Given the description of an element on the screen output the (x, y) to click on. 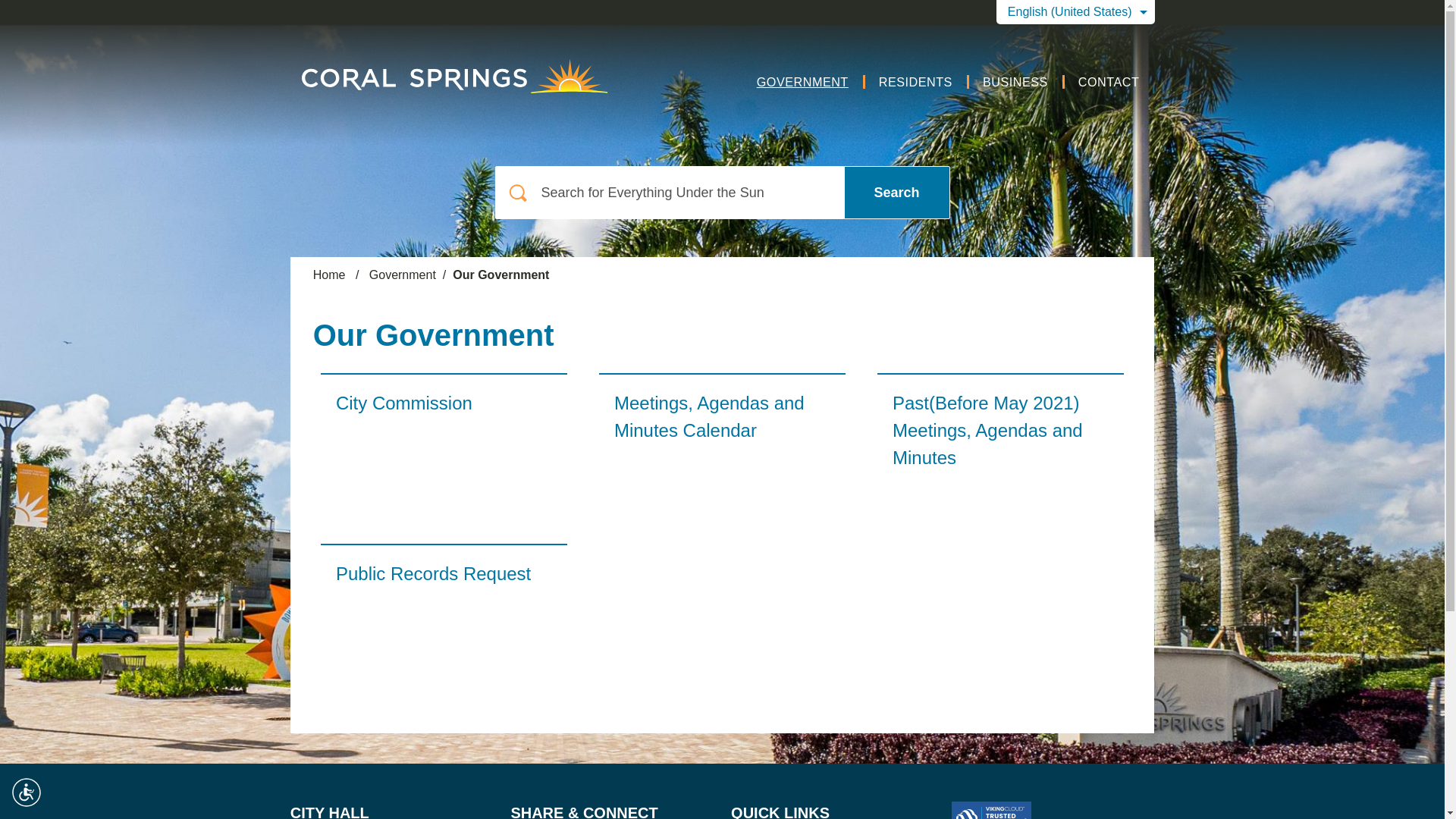
Sub-menu (847, 80)
Search (896, 192)
GOVERNMENT (802, 80)
City of Coral Springs - Home - Logo (418, 71)
Accessibility Menu (26, 792)
Search (896, 192)
